Given the description of an element on the screen output the (x, y) to click on. 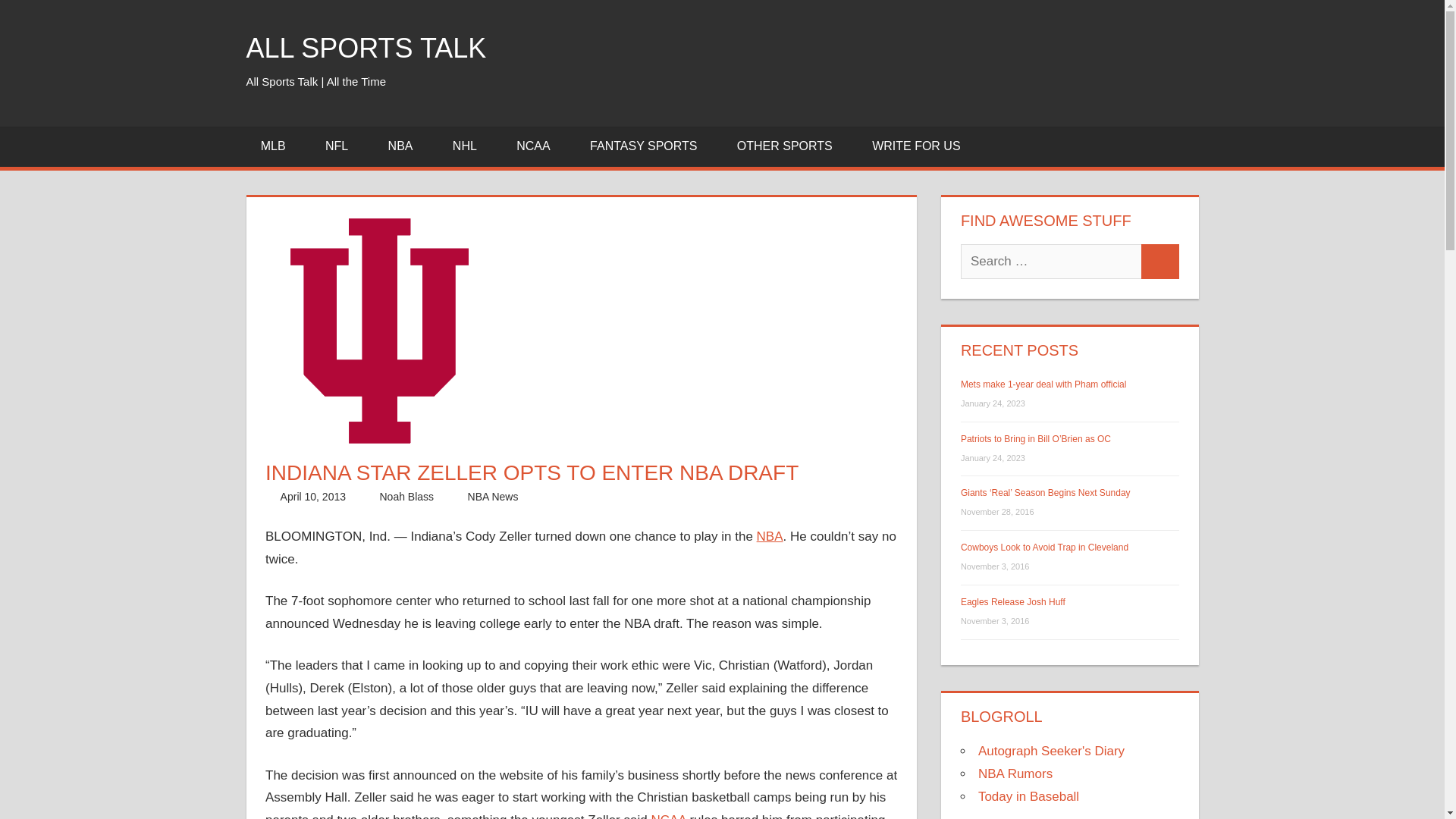
NCAA (538, 146)
NFL (342, 146)
NBA (405, 146)
WRITE FOR US (916, 146)
MLB (278, 146)
8:18 pm (313, 496)
View all posts by Noah Blass (405, 496)
ALL SPORTS TALK (366, 47)
Noah Blass (405, 496)
April 10, 2013 (313, 496)
Search for: (1050, 261)
NHL (470, 146)
FANTASY SPORTS (648, 146)
OTHER SPORTS (789, 146)
NBA Rumors (1015, 773)
